Given the description of an element on the screen output the (x, y) to click on. 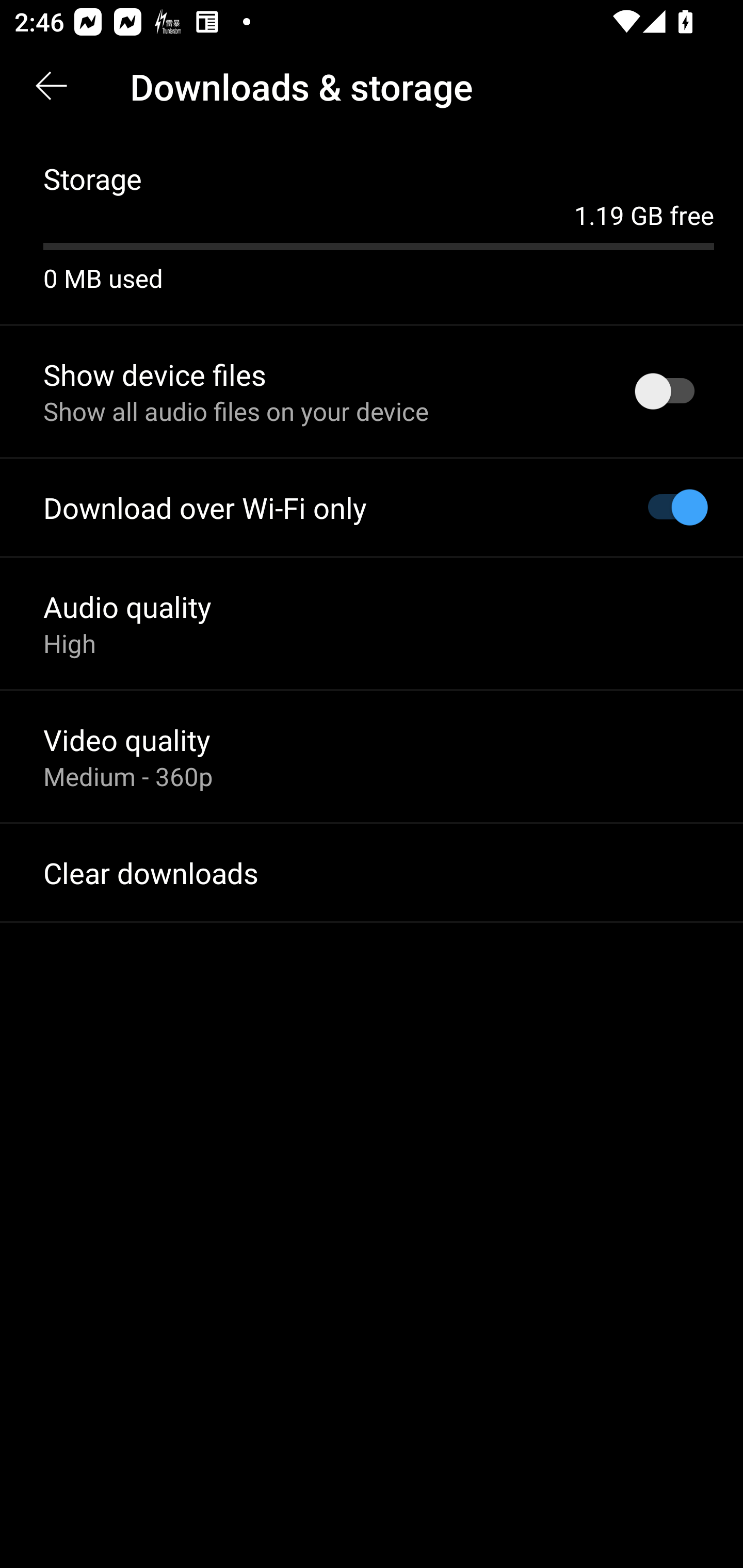
Back (50, 86)
Download over Wi-Fi only (371, 507)
Audio quality High (371, 623)
Video quality Medium - 360p (371, 756)
Clear downloads (371, 872)
